Given the description of an element on the screen output the (x, y) to click on. 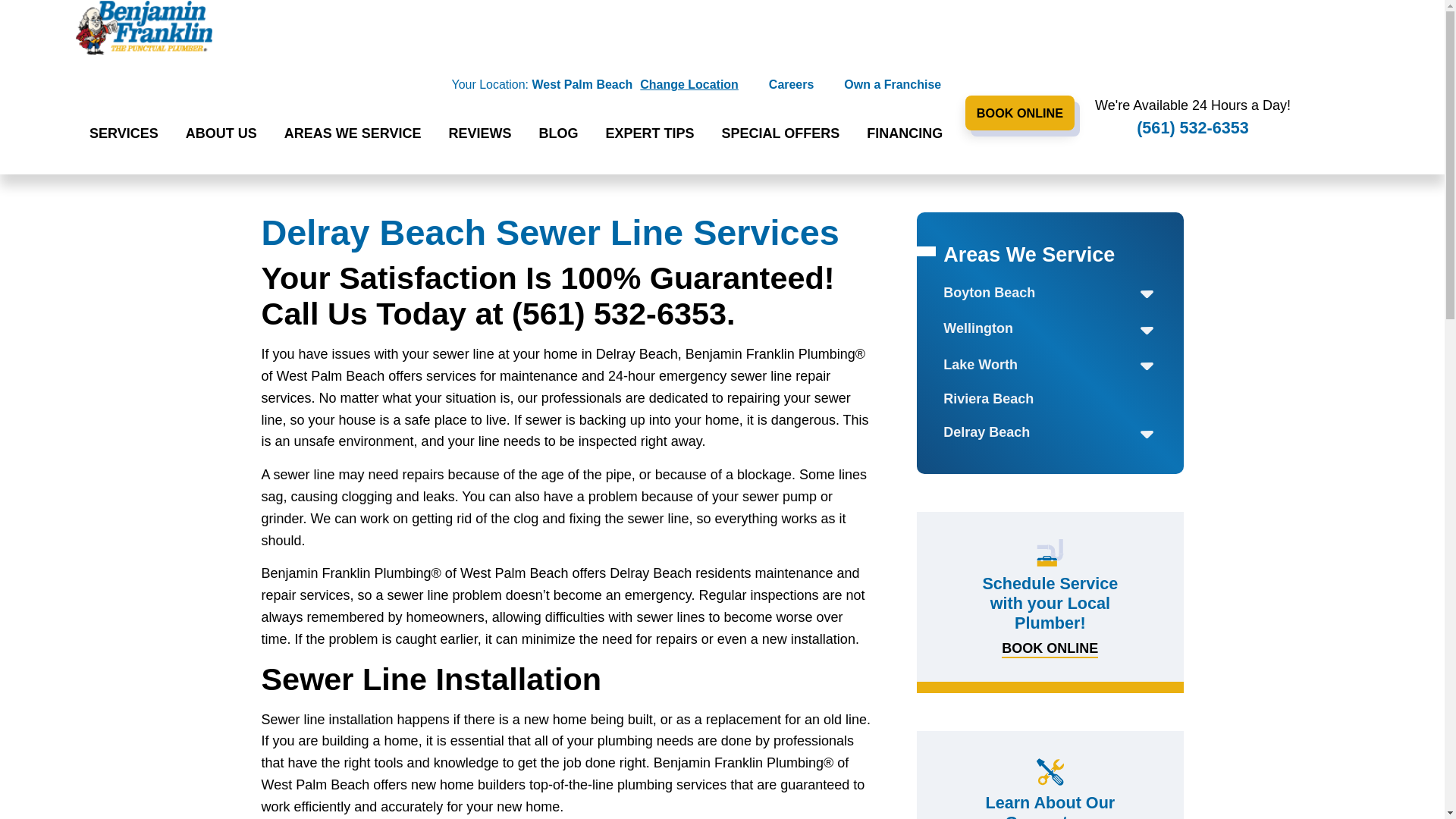
Careers (790, 85)
SERVICES (123, 134)
Own a Franchise (892, 85)
Change Location (689, 85)
